Given the description of an element on the screen output the (x, y) to click on. 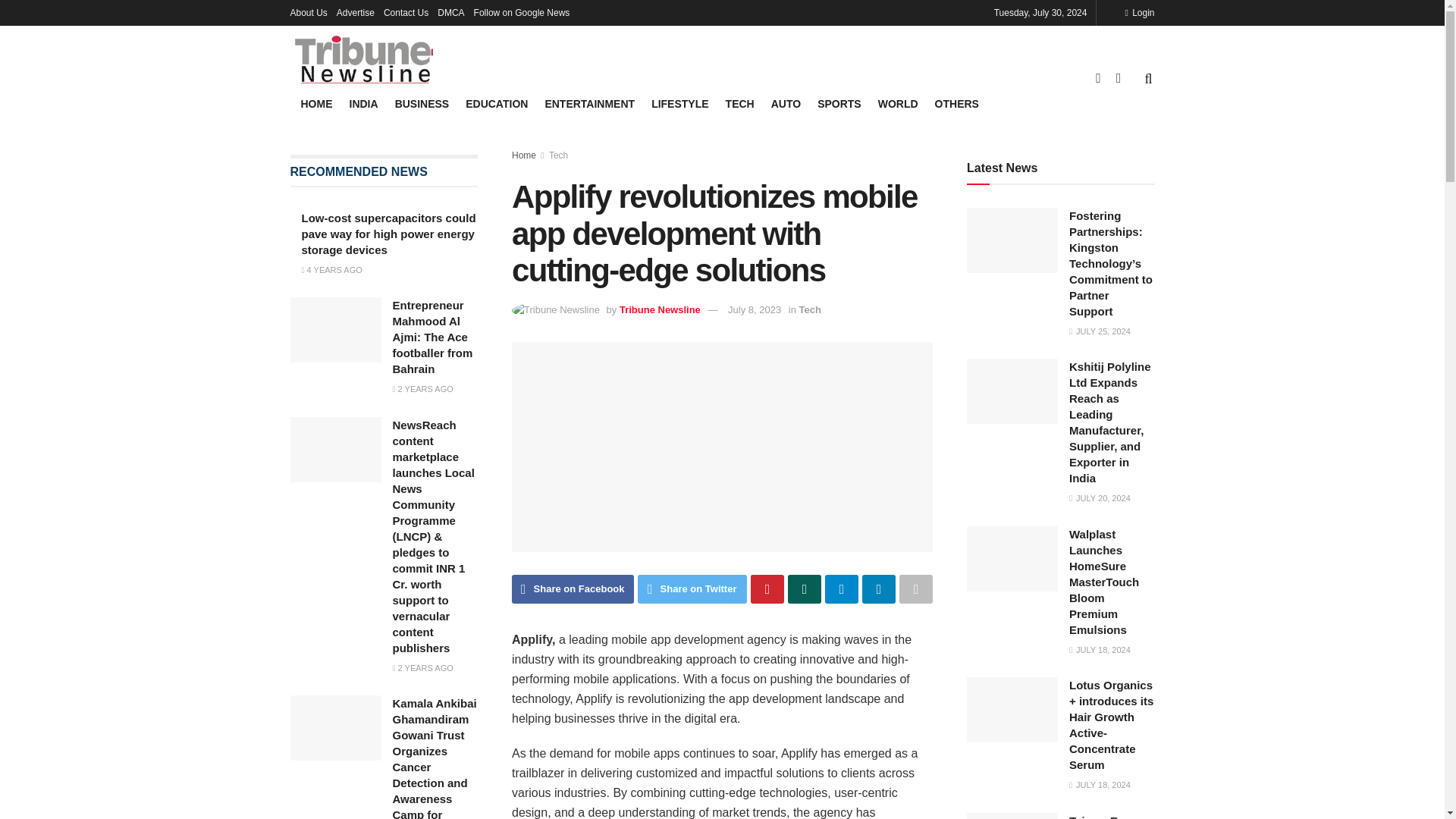
Login (1139, 12)
About Us (307, 12)
LIFESTYLE (678, 103)
SPORTS (838, 103)
Contact Us (406, 12)
OTHERS (956, 103)
DMCA (451, 12)
EDUCATION (496, 103)
Follow on Google News (522, 12)
ENTERTAINMENT (589, 103)
WORLD (897, 103)
Advertise (355, 12)
BUSINESS (421, 103)
